Given the description of an element on the screen output the (x, y) to click on. 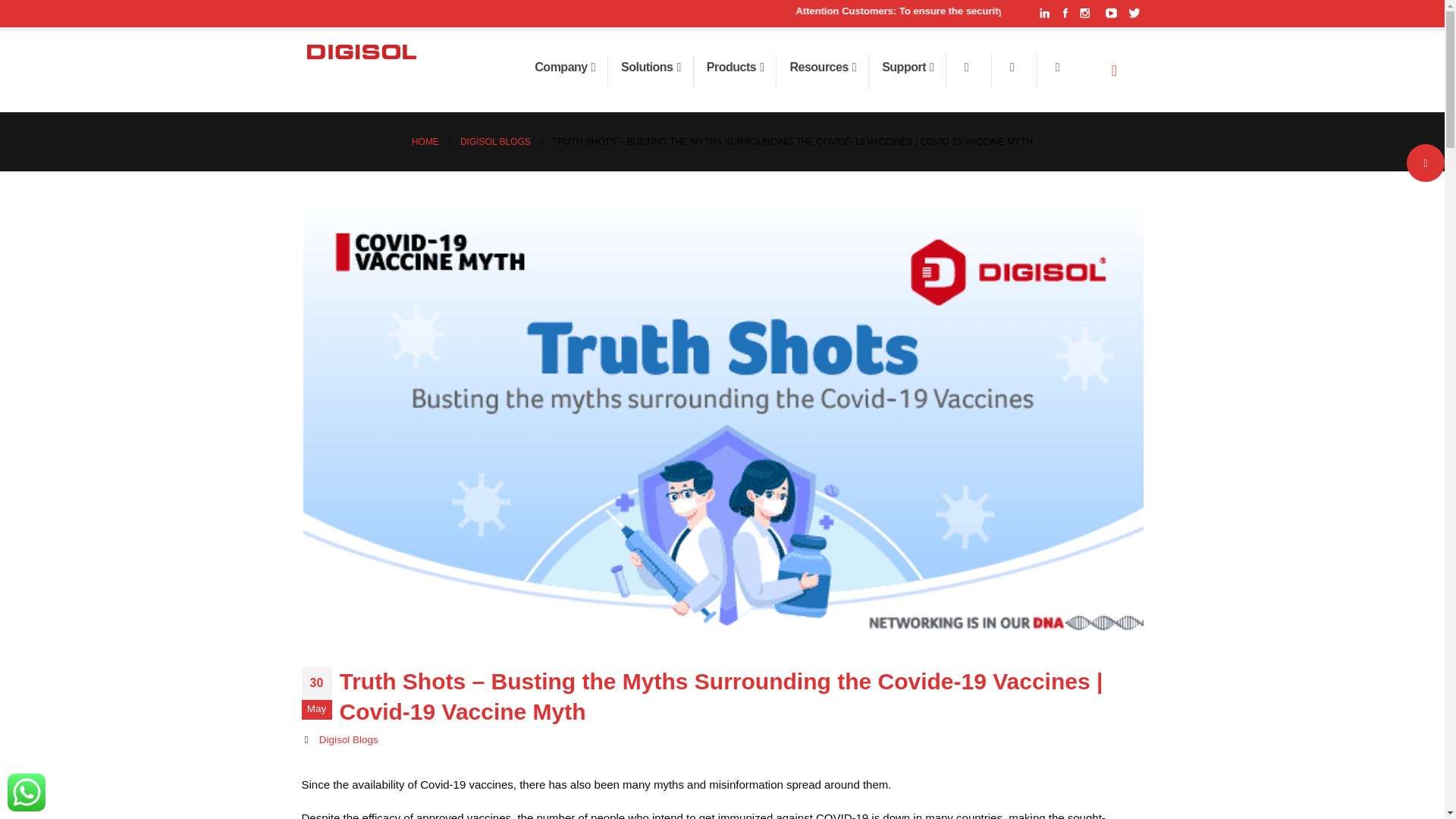
Products (735, 71)
Company (565, 71)
DITT (1010, 67)
Digisol - Digisol (360, 51)
Submit (1210, 387)
Partner Scheme (965, 67)
Go to Home Page (425, 141)
Contact (1056, 67)
Solutions (651, 71)
